Given the description of an element on the screen output the (x, y) to click on. 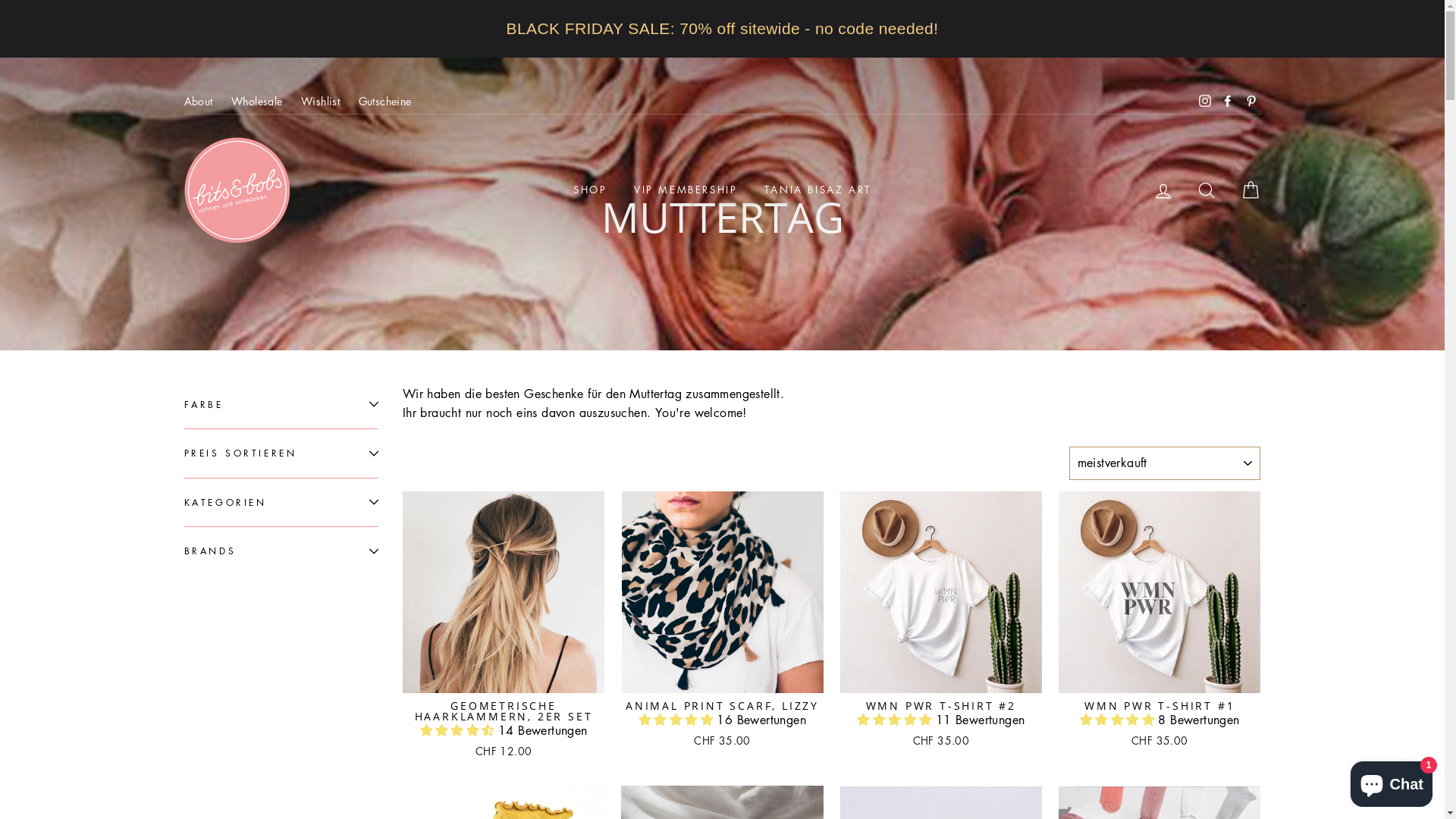
Onlineshop-Chat von Shopify Element type: hover (1391, 780)
WMN PWR T-SHIRT #1
8 Bewertungen
CHF 35.00 Element type: text (1159, 621)
EINLOGGEN Element type: text (1163, 189)
Wishlist Element type: text (320, 101)
SUCHE Element type: text (1206, 189)
BRANDS Element type: text (280, 550)
TANIA BISAZ ART Element type: text (817, 189)
Instagram Element type: text (1204, 101)
Wholesale Element type: text (256, 101)
FARBE Element type: text (280, 404)
Pinterest Element type: text (1250, 101)
BLACK FRIDAY SALE: 70% off sitewide - no code needed! Element type: text (722, 28)
JETZT ANMELDEN UND 10% SPAREN Element type: text (722, 15)
GEOMETRISCHE HAARKLAMMERN, 2ER SET
14 Bewertungen
CHF 12.00 Element type: text (503, 626)
VIP MEMBERSHIP Element type: text (685, 189)
KATEGORIEN Element type: text (280, 502)
EINKAUFSWAGEN Element type: text (1249, 189)
ANIMAL PRINT SCARF, LIZZY
16 Bewertungen
CHF 35.00 Element type: text (721, 621)
WMN PWR T-SHIRT #2
11 Bewertungen
CHF 35.00 Element type: text (940, 621)
Facebook Element type: text (1227, 101)
About Element type: text (197, 101)
PREIS SORTIEREN Element type: text (280, 453)
Direkt zum Inhalt Element type: text (0, 0)
SHOP Element type: text (589, 189)
Gutscheine Element type: text (385, 101)
